Given the description of an element on the screen output the (x, y) to click on. 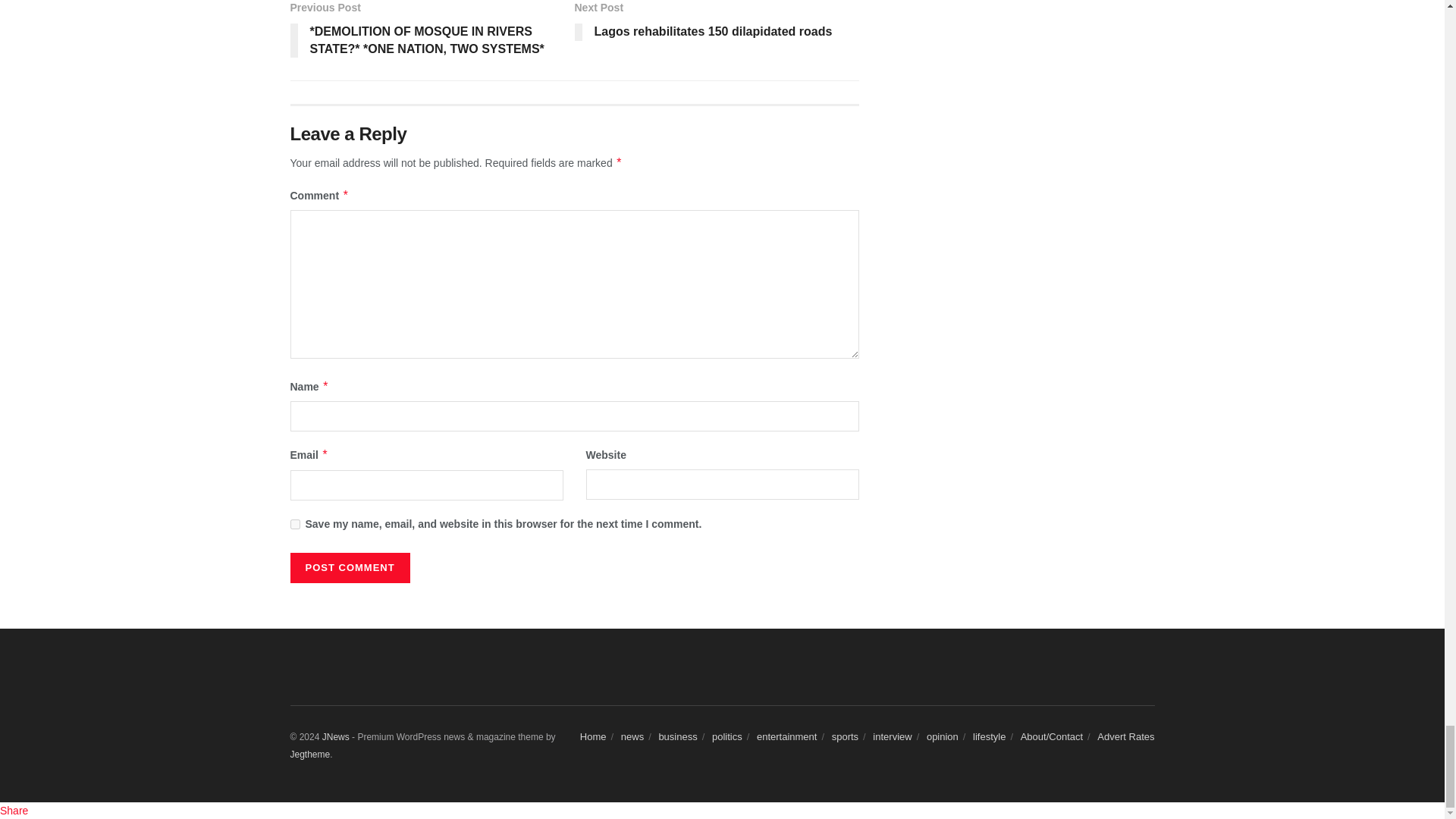
Jegtheme (309, 754)
yes (294, 524)
Post Comment (349, 567)
